Given the description of an element on the screen output the (x, y) to click on. 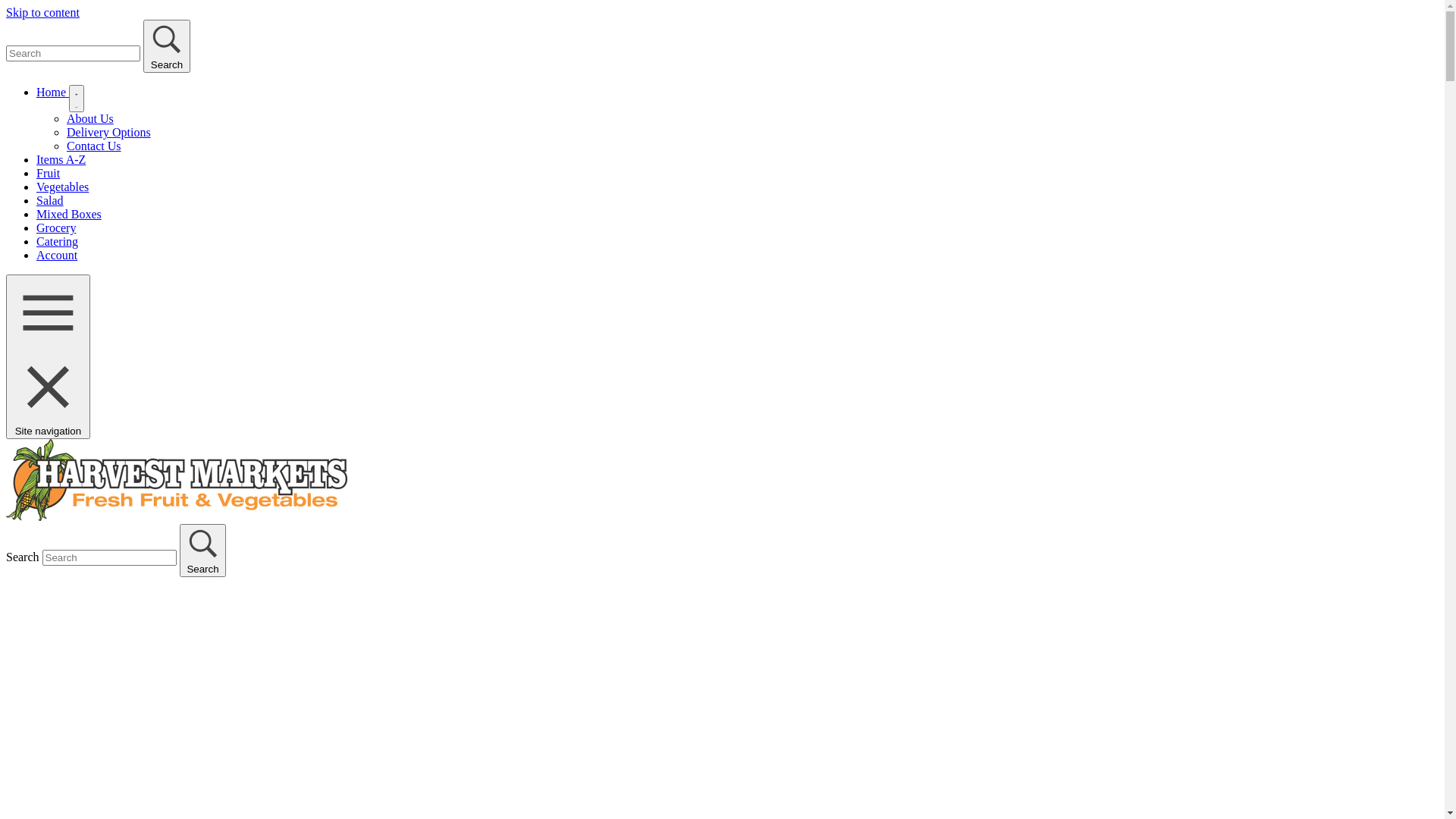
Delivery Options Element type: text (108, 131)
Site navigation Element type: text (48, 356)
Home Element type: text (52, 91)
Account Element type: text (56, 254)
Grocery Element type: text (55, 227)
Contact Us Element type: text (93, 145)
Skip to content Element type: text (42, 12)
Vegetables Element type: text (62, 186)
Salad Element type: text (49, 200)
Search Element type: text (166, 45)
Mixed Boxes Element type: text (68, 213)
About Us Element type: text (89, 118)
Catering Element type: text (57, 241)
Items A-Z Element type: text (60, 159)
Search Element type: text (202, 550)
Fruit Element type: text (47, 172)
